Given the description of an element on the screen output the (x, y) to click on. 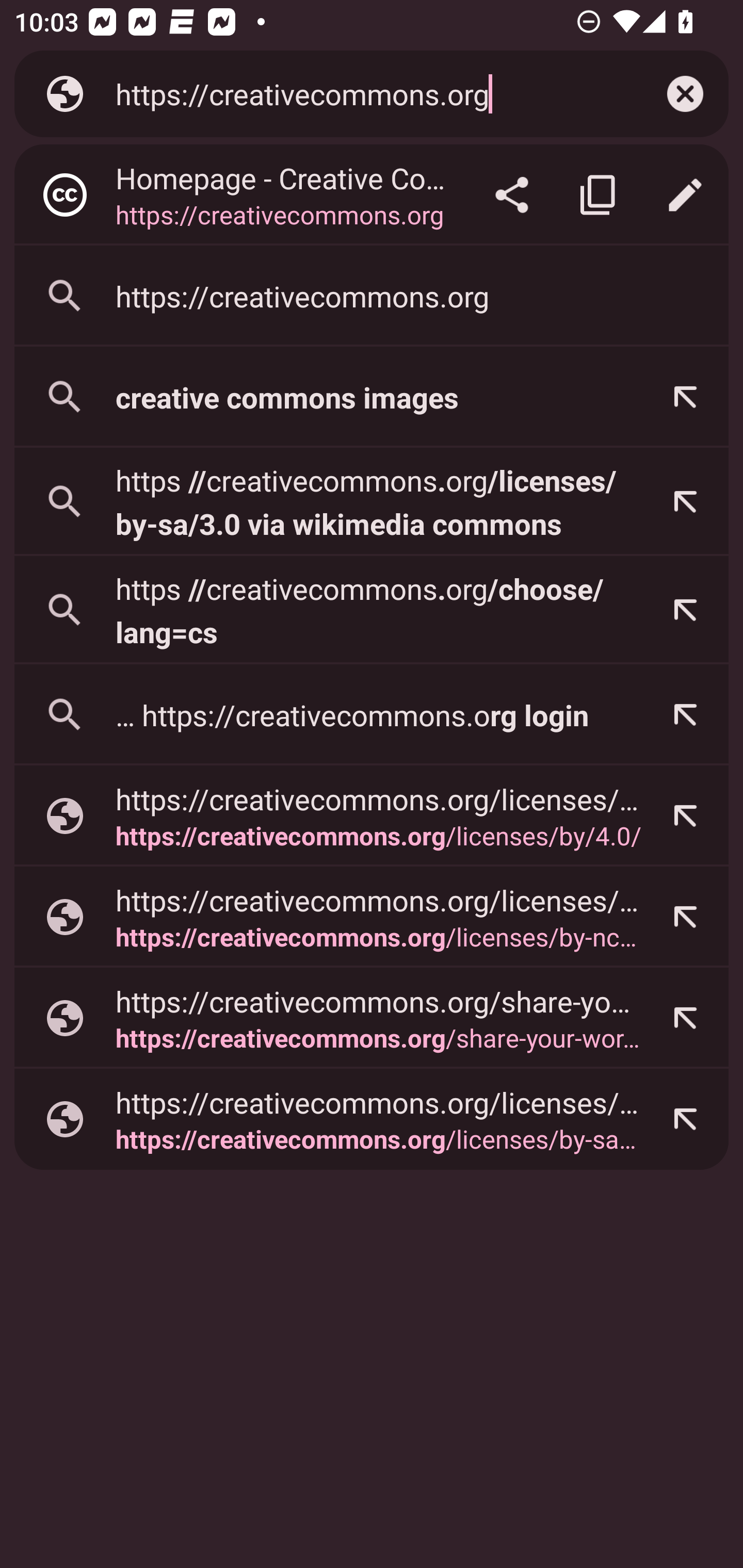
Clear input (684, 93)
https://creativecommons.org (367, 92)
Share… (511, 195)
Copy link (598, 195)
Edit (684, 195)
https://creativecommons.org (371, 296)
Refine: creative commons images (684, 397)
Refine: https://creativecommons.org login (684, 714)
